Given the description of an element on the screen output the (x, y) to click on. 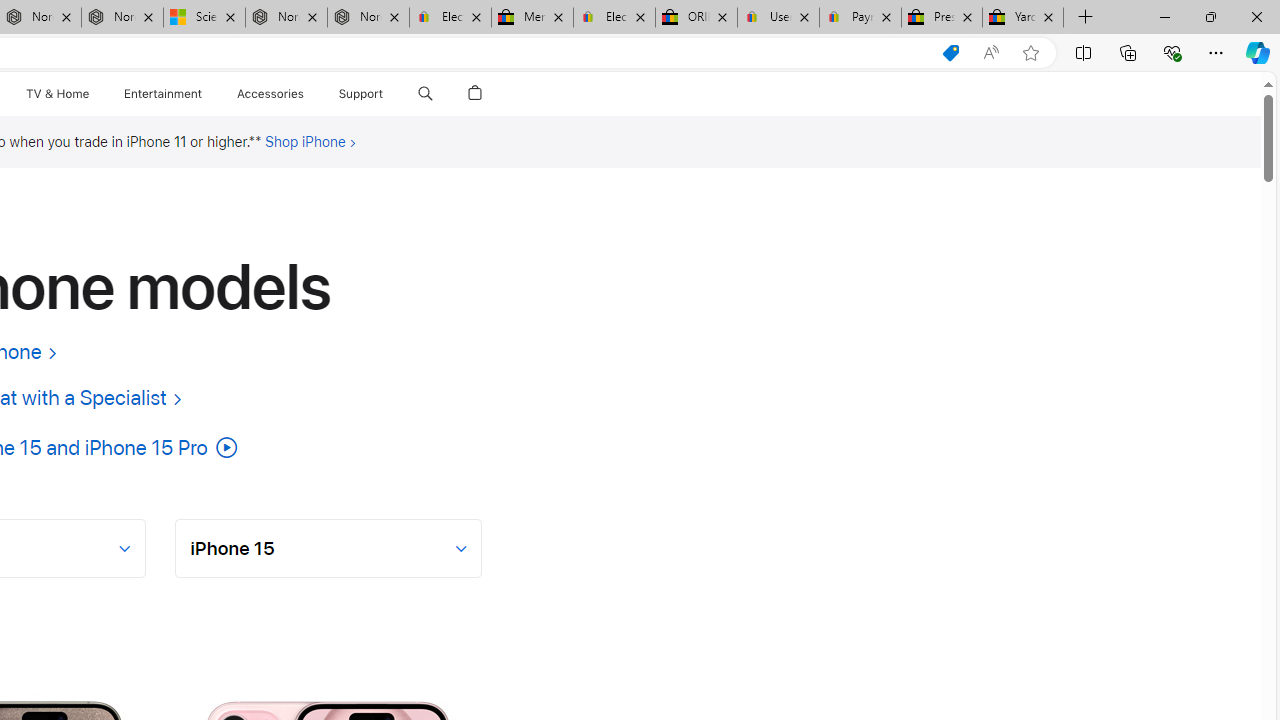
Class: globalnav-item globalnav-search shift-0-1 (425, 93)
Entertainment menu (205, 93)
AutomationID: globalnav-bag (475, 93)
TV & Home (56, 93)
